Given the description of an element on the screen output the (x, y) to click on. 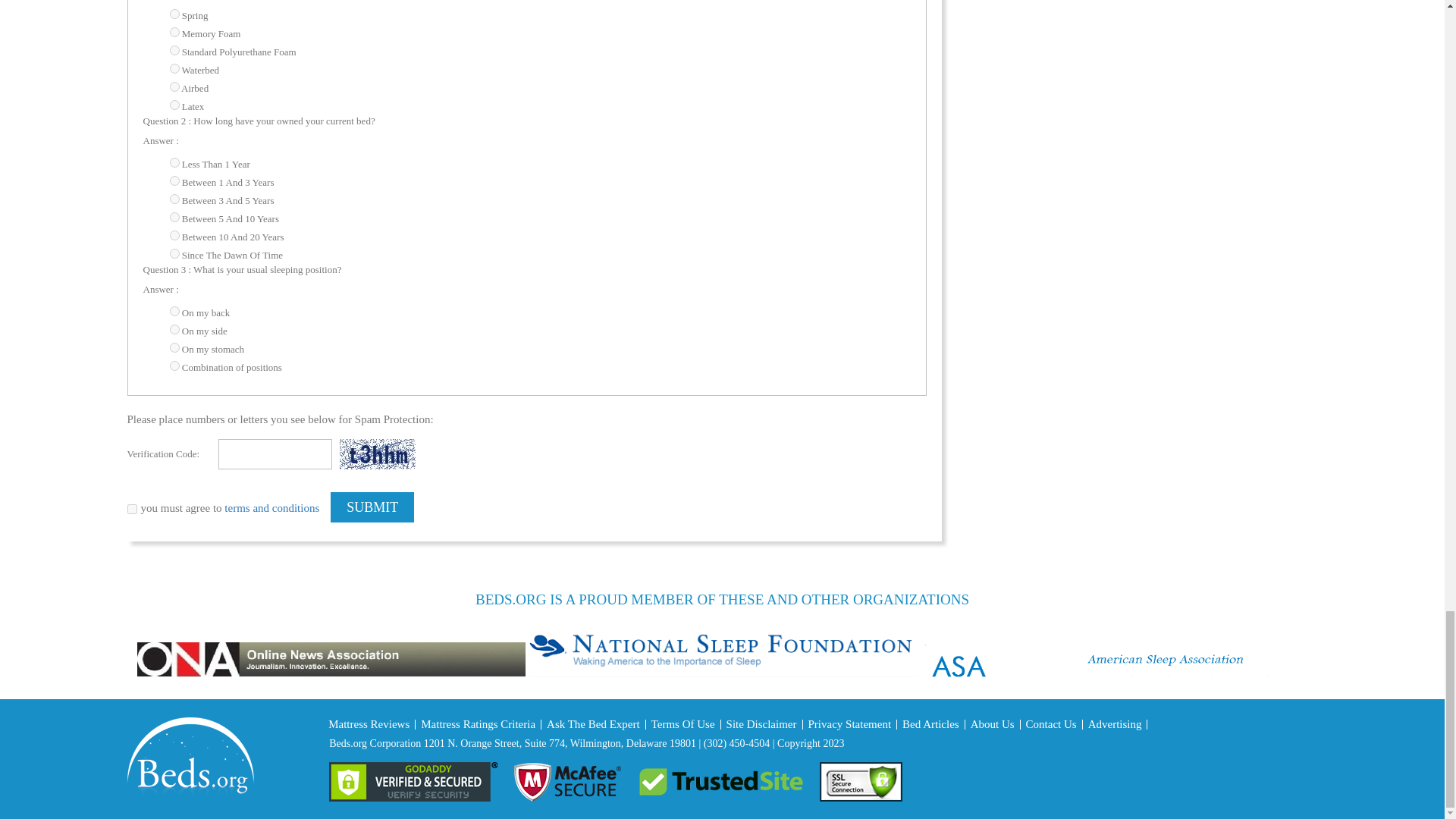
5 (174, 104)
19 (174, 180)
4 (174, 86)
18 (174, 162)
1 (174, 13)
20 (174, 198)
24 (174, 50)
2 (174, 31)
3 (174, 68)
